Given the description of an element on the screen output the (x, y) to click on. 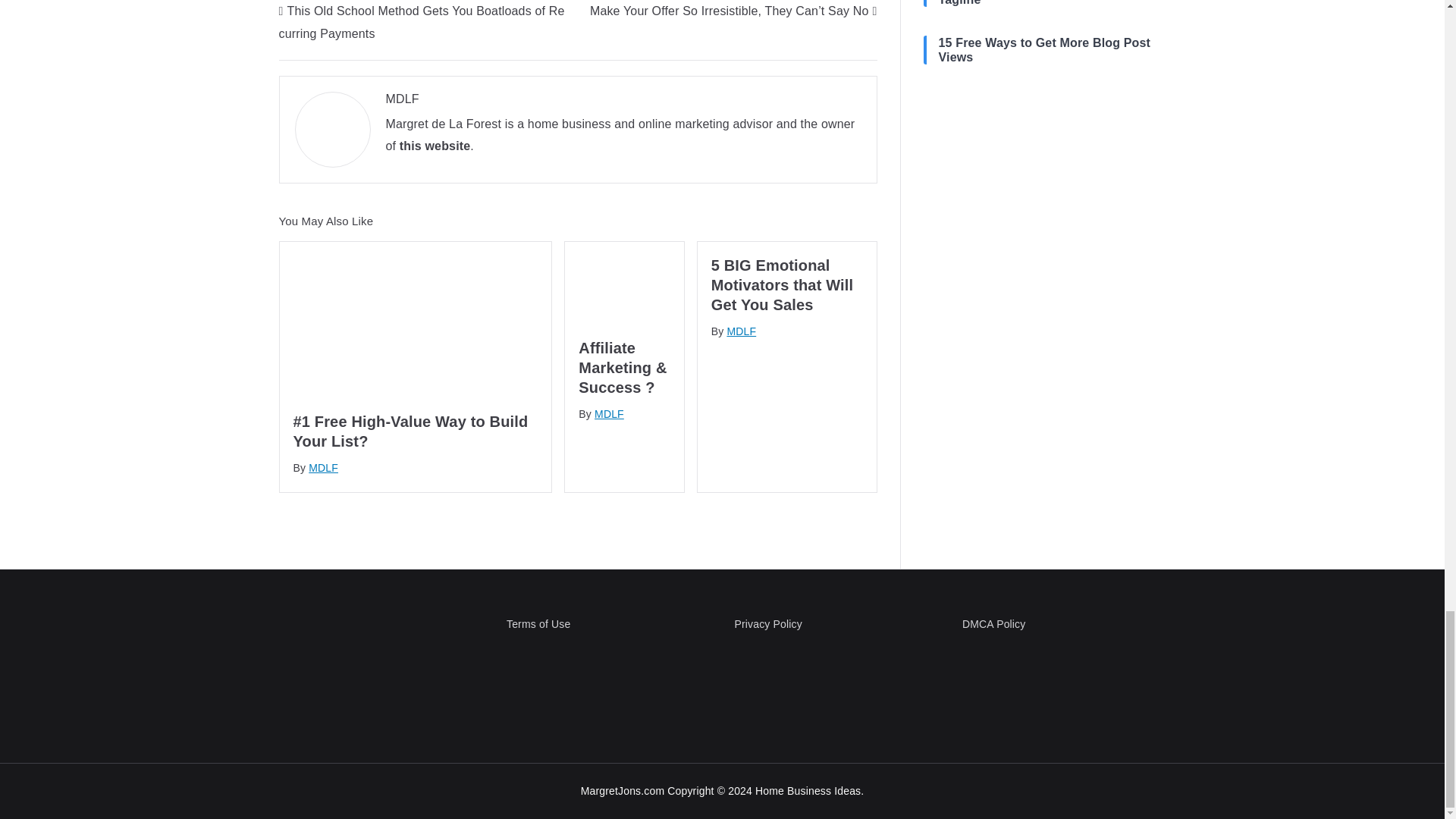
Follow by Email (974, 135)
RSS (941, 135)
Home Business Ideas (807, 790)
Facebook (1009, 135)
this website (434, 145)
